Given the description of an element on the screen output the (x, y) to click on. 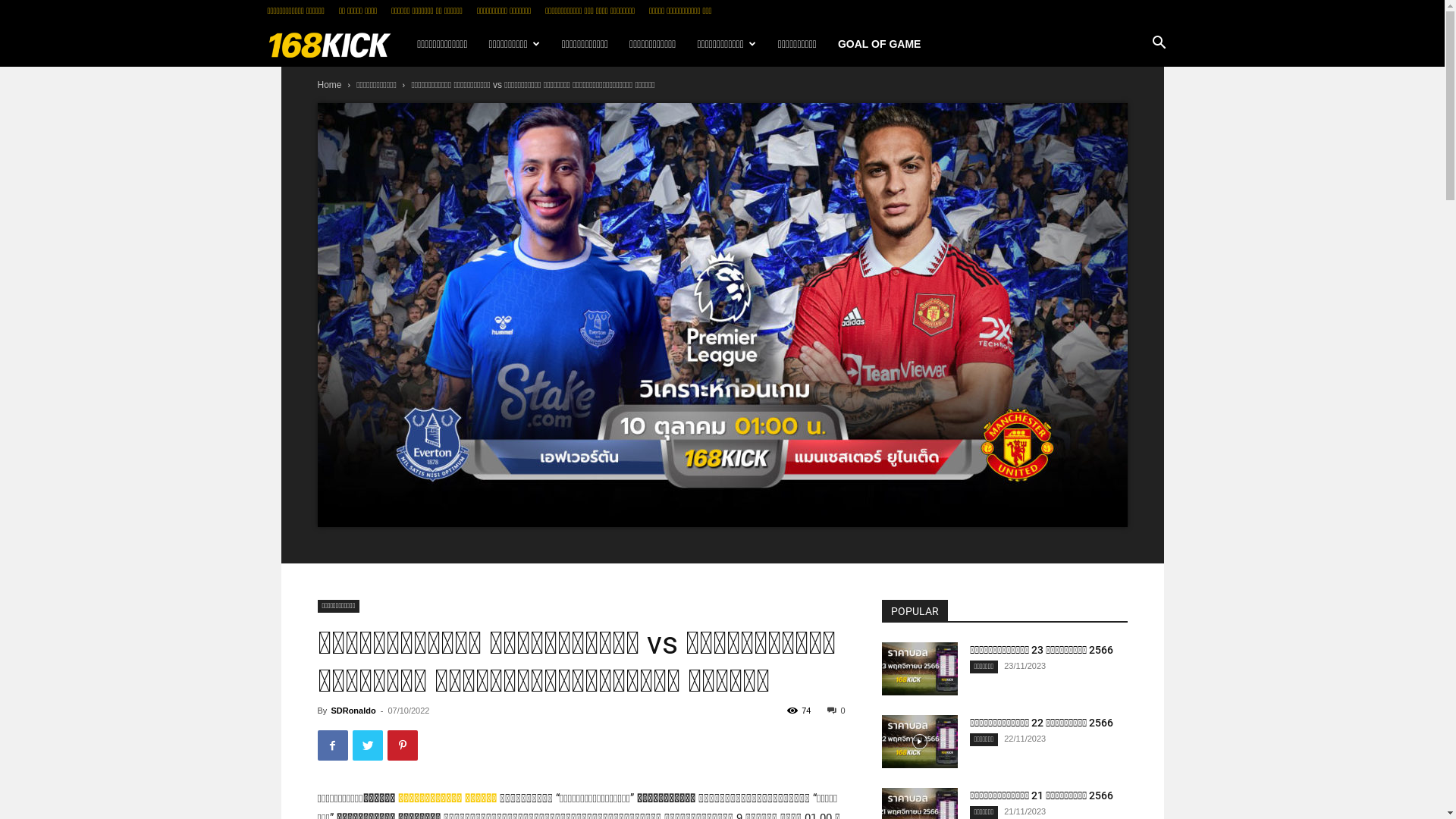
Facebook Element type: hover (331, 745)
Home Element type: text (328, 84)
168Kick.com Element type: text (336, 44)
GOAL OF GAME Element type: text (879, 43)
Twitter Element type: hover (366, 745)
SDRonaldo Element type: text (352, 710)
Pinterest Element type: hover (401, 745)
0 Element type: text (835, 710)
Search Element type: text (1135, 109)
